Given the description of an element on the screen output the (x, y) to click on. 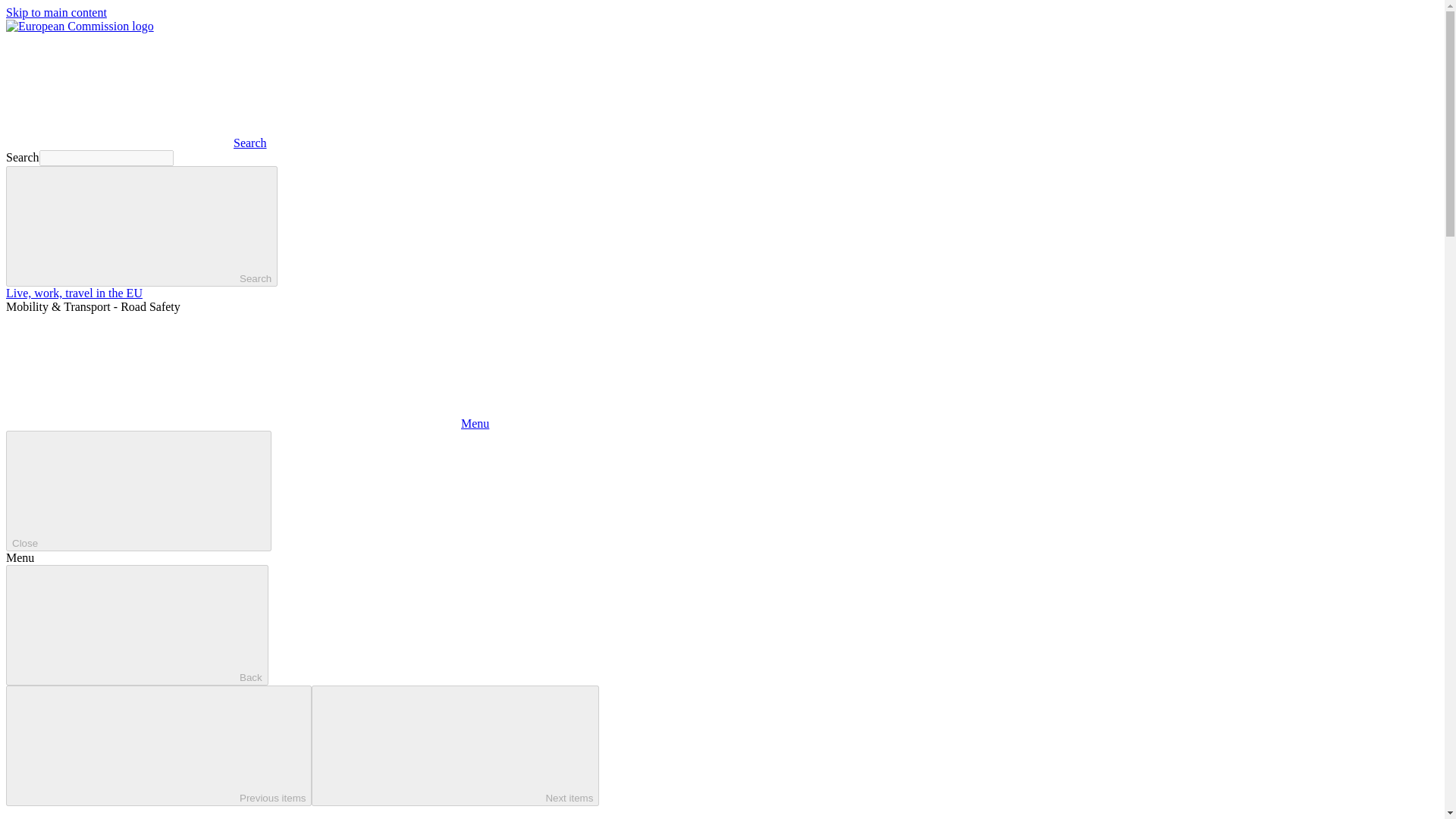
Next items (454, 745)
Skip to main content (55, 11)
European Commission (79, 25)
Live, work, travel in the EU (73, 292)
Close (137, 490)
Search (135, 142)
Previous items (158, 745)
Back (136, 625)
Menu (247, 422)
